Given the description of an element on the screen output the (x, y) to click on. 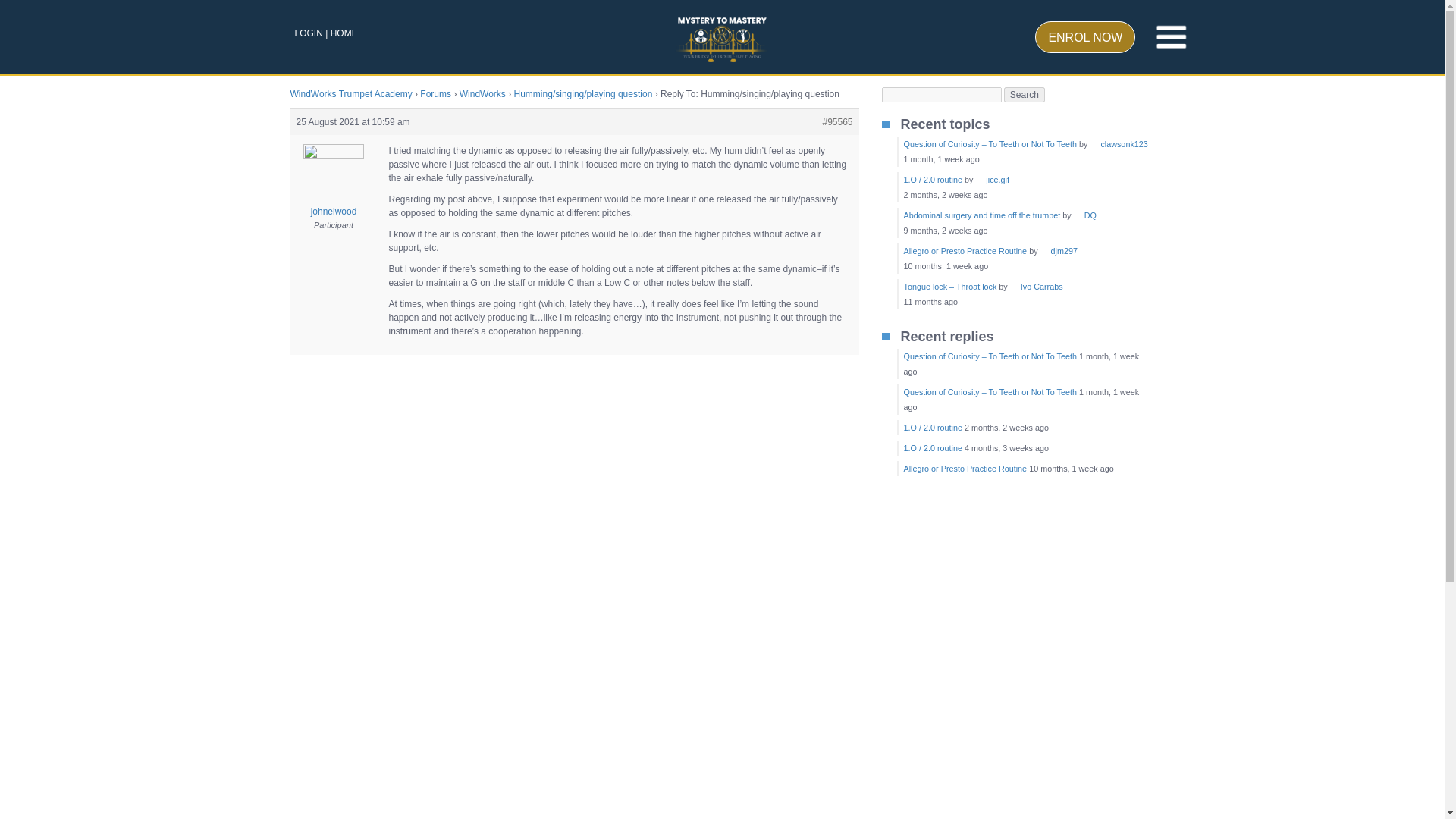
View DQ's profile (1085, 215)
WindWorks Trumpet Academy (350, 93)
djm297 (1059, 250)
jice.gif (992, 179)
DQ (1085, 215)
View clawsonk123's profile (1118, 143)
View djm297's profile (1059, 250)
ENROL NOW (1085, 37)
Allegro or Presto Practice Routine (965, 250)
johnelwood (333, 190)
Abdominal surgery and time off the trumpet (982, 215)
clawsonk123 (1118, 143)
Search (1024, 94)
LOGIN (307, 32)
WindWorks (482, 93)
